Given the description of an element on the screen output the (x, y) to click on. 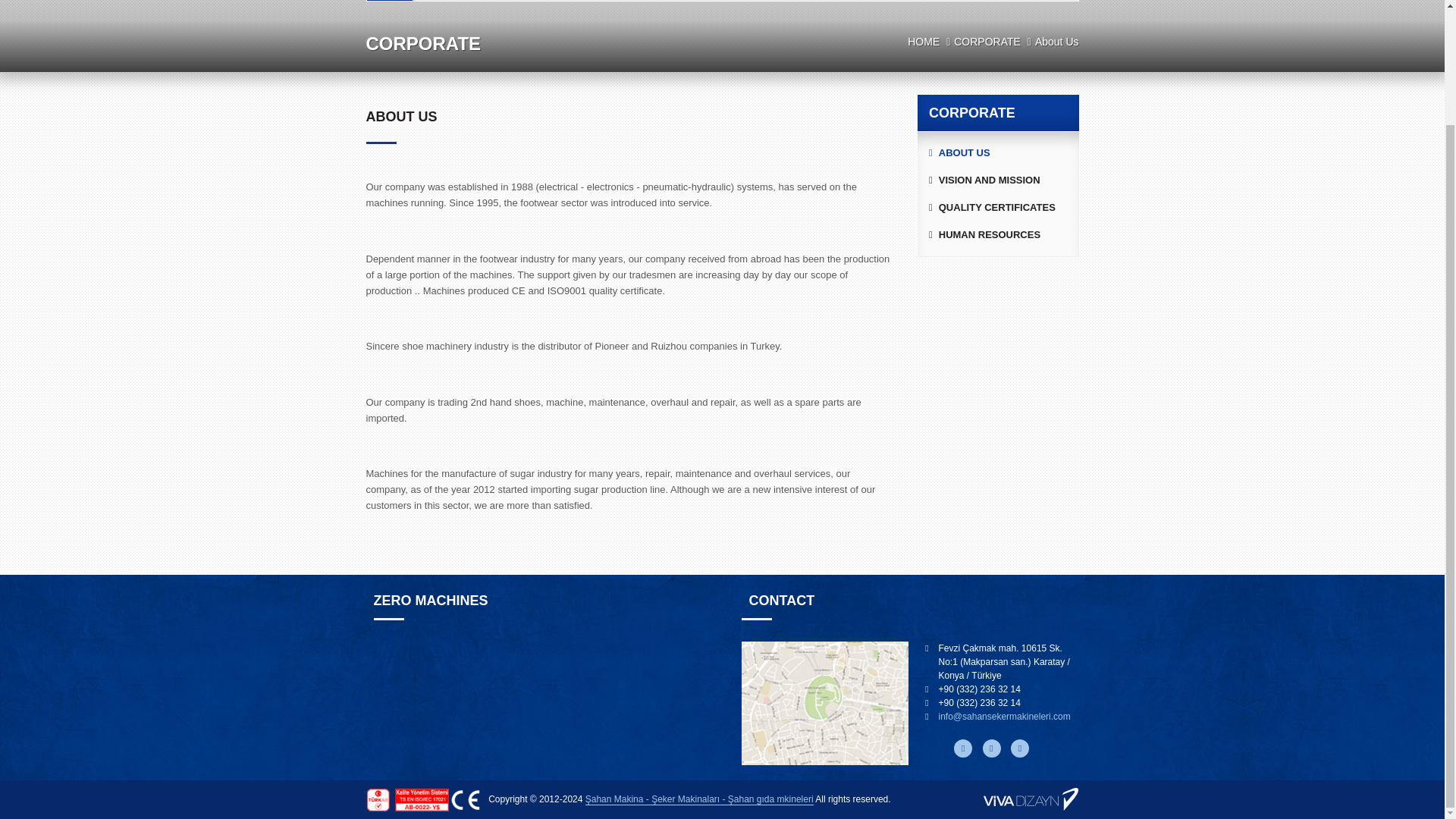
CORPORATE (986, 41)
HUMAN RESOURCES (997, 234)
VISION AND MISSION (997, 180)
QUALITY CERTIFICATES (997, 207)
